Given the description of an element on the screen output the (x, y) to click on. 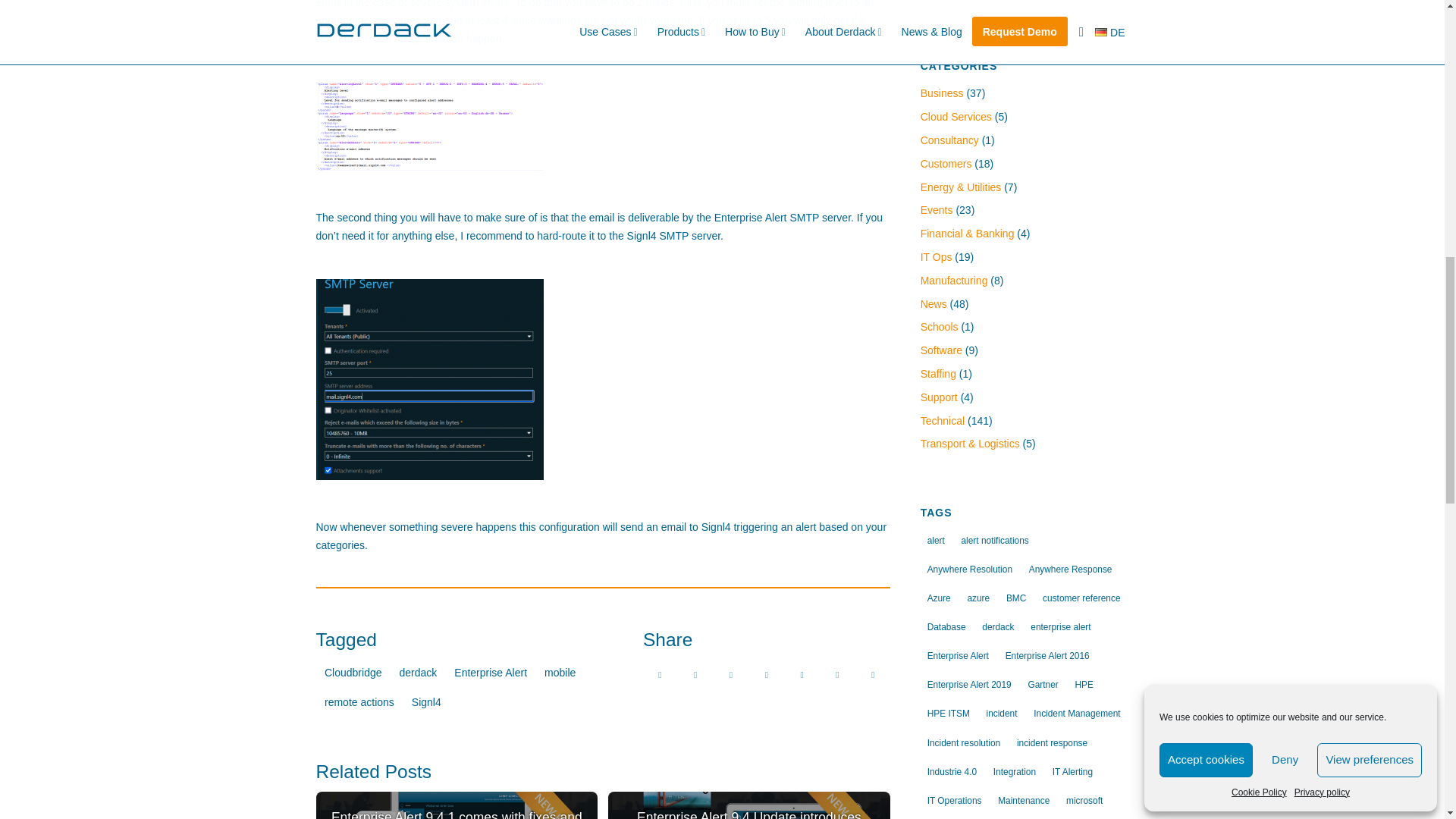
Welcome to the Derdack Events Section (936, 209)
Latest news around Derdack and Enterprise Alert  (933, 304)
